Given the description of an element on the screen output the (x, y) to click on. 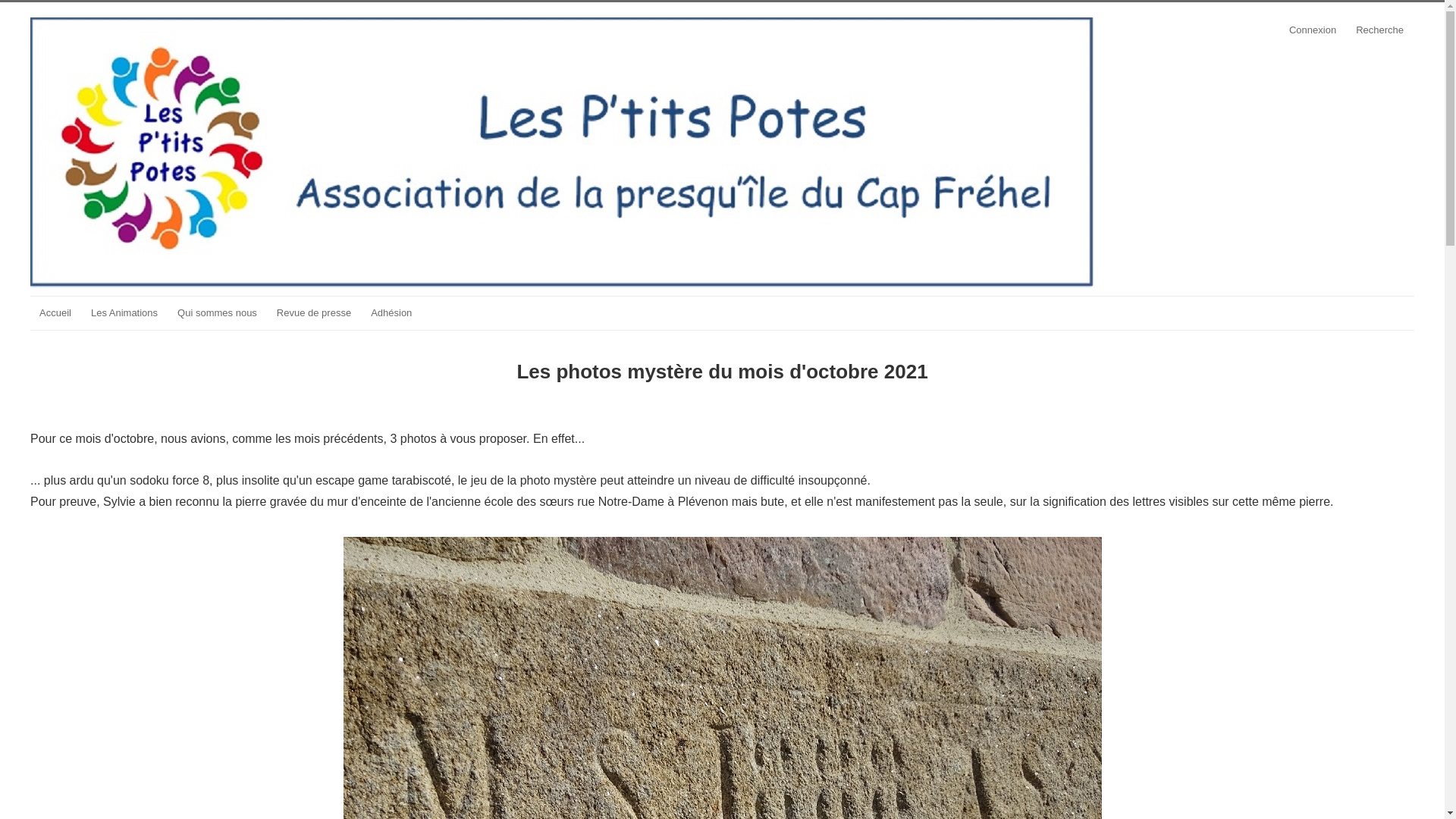
Recherche Element type: text (1379, 29)
Accueil Element type: text (55, 312)
Qui sommes nous Element type: text (217, 312)
Les Animations Element type: text (123, 312)
Connexion Element type: text (1312, 29)
Revue de presse Element type: text (313, 312)
